Given the description of an element on the screen output the (x, y) to click on. 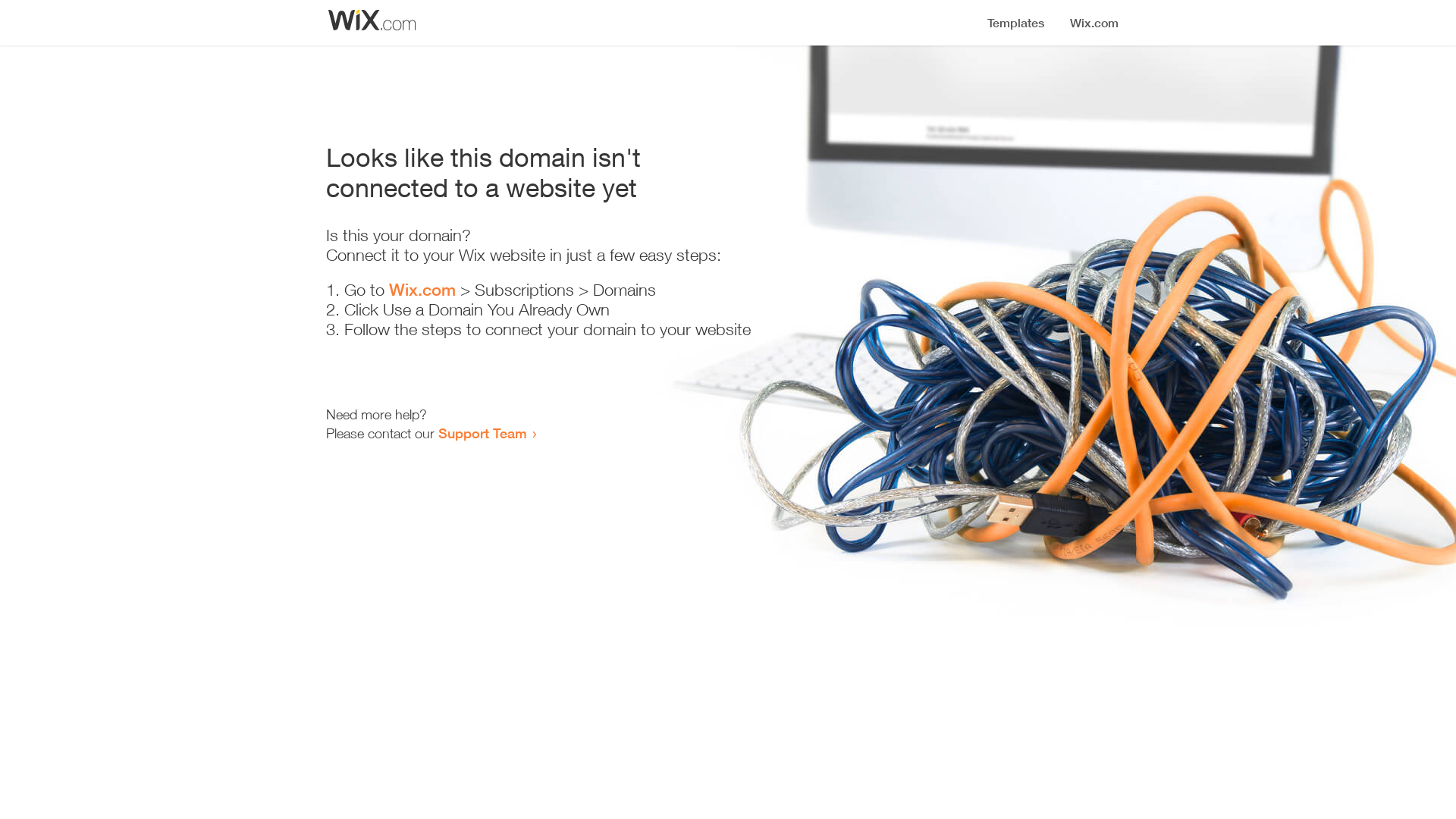
Support Team Element type: text (482, 432)
Wix.com Element type: text (422, 289)
